Given the description of an element on the screen output the (x, y) to click on. 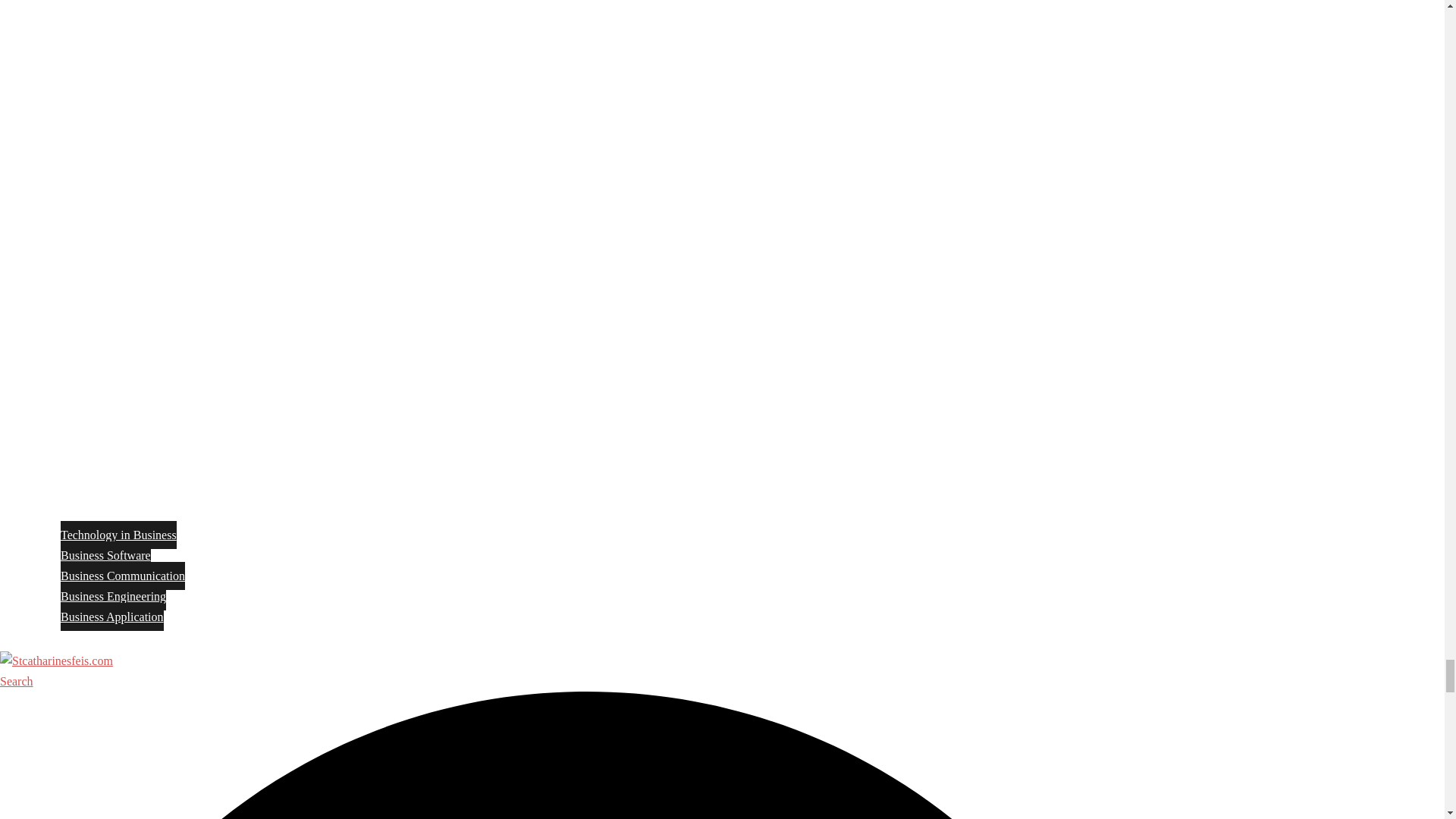
Stcatharinesfeis.com (56, 660)
